Given the description of an element on the screen output the (x, y) to click on. 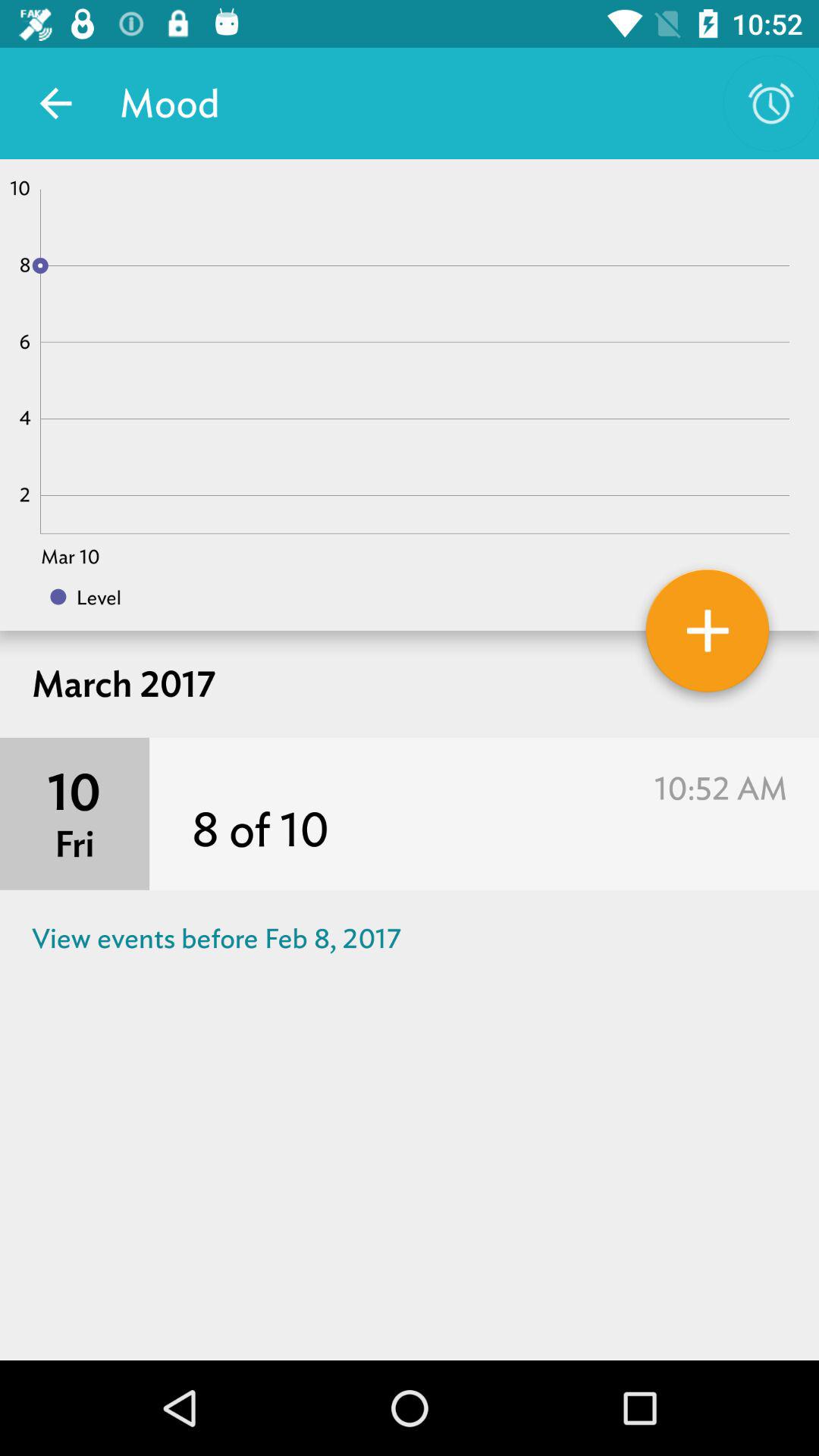
go back (55, 103)
